Given the description of an element on the screen output the (x, y) to click on. 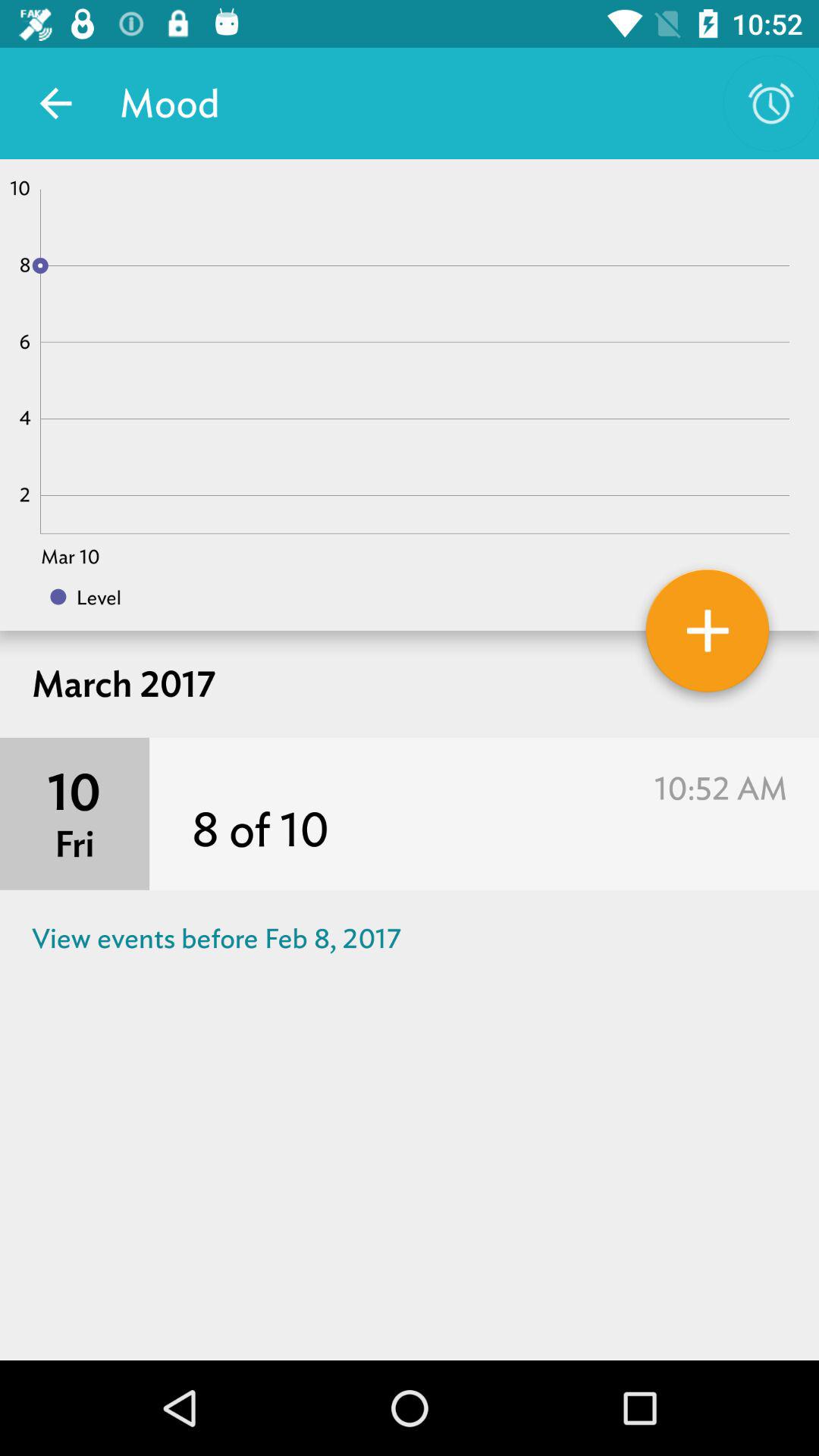
go back (55, 103)
